Given the description of an element on the screen output the (x, y) to click on. 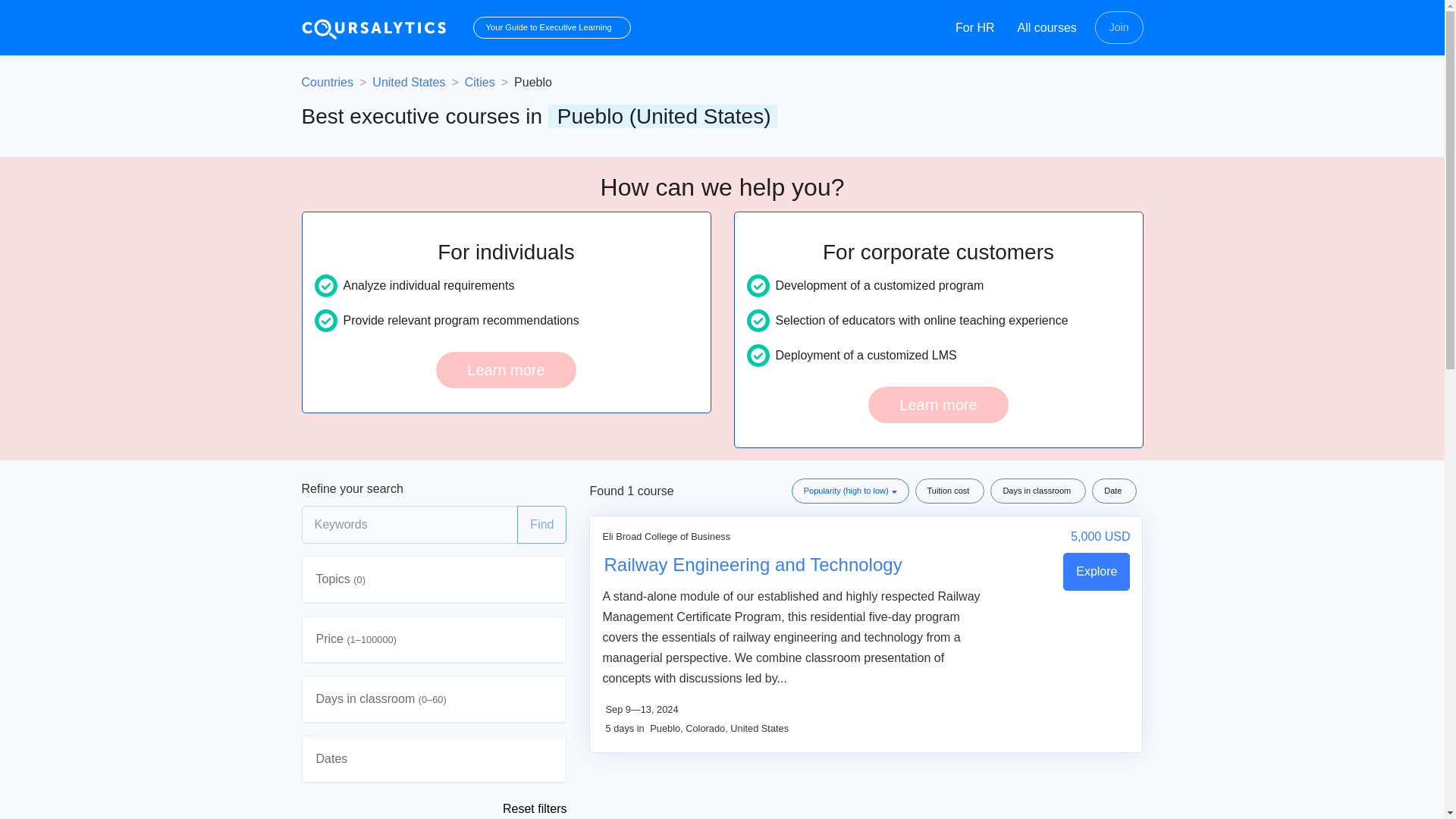
Date (1114, 490)
Explore (1095, 571)
United States (408, 82)
Dates (433, 759)
Your Guide to Executive Learning (548, 27)
Days in classroom (1038, 490)
Countries (327, 82)
Learn more (505, 370)
Join (1118, 27)
Find (541, 524)
Cities (479, 82)
For HR (972, 27)
Railway Engineering and Technology (795, 564)
Tuition cost (950, 490)
All courses (1045, 27)
